Given the description of an element on the screen output the (x, y) to click on. 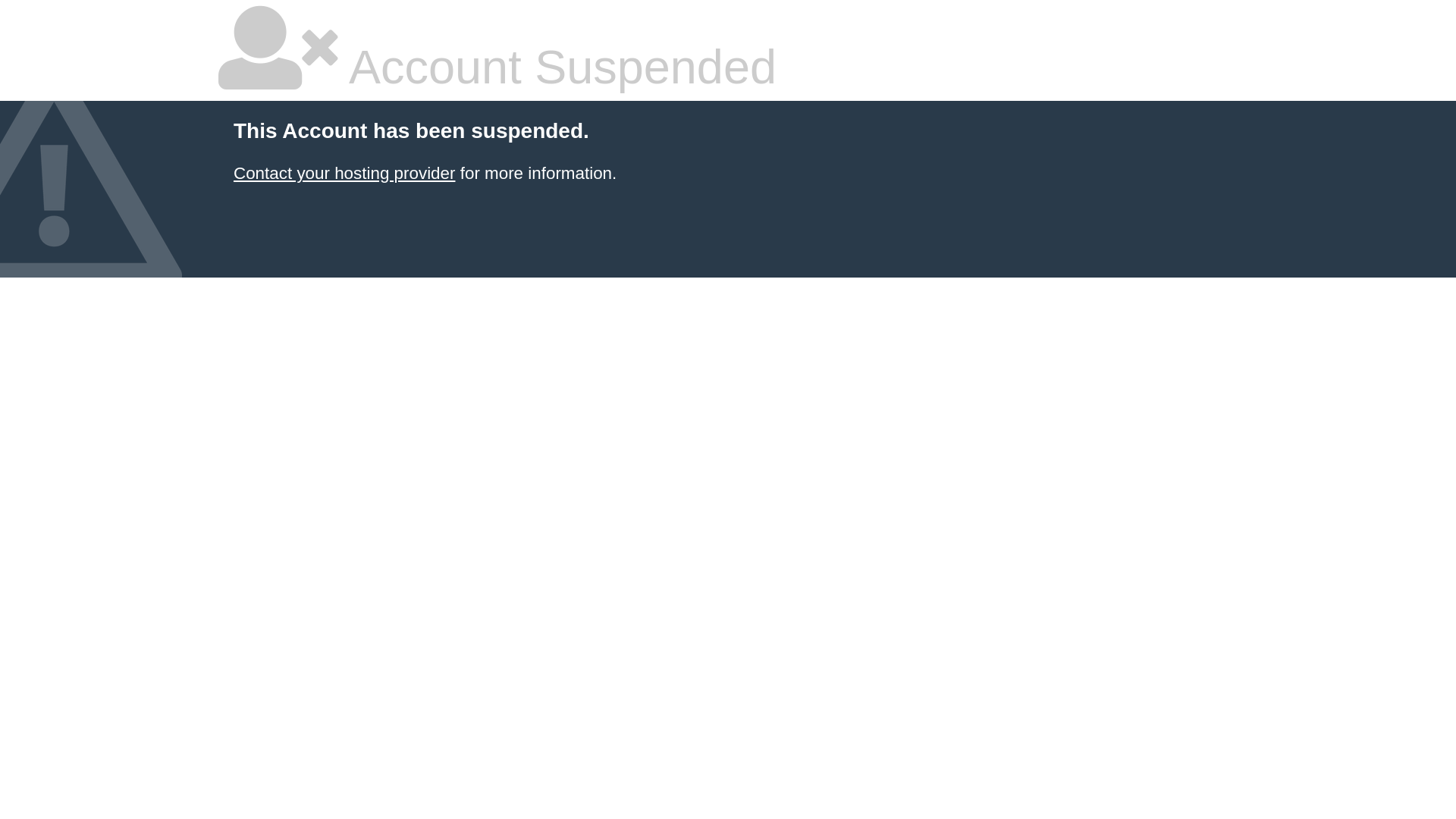
Contact your hosting provider Element type: text (344, 172)
